Given the description of an element on the screen output the (x, y) to click on. 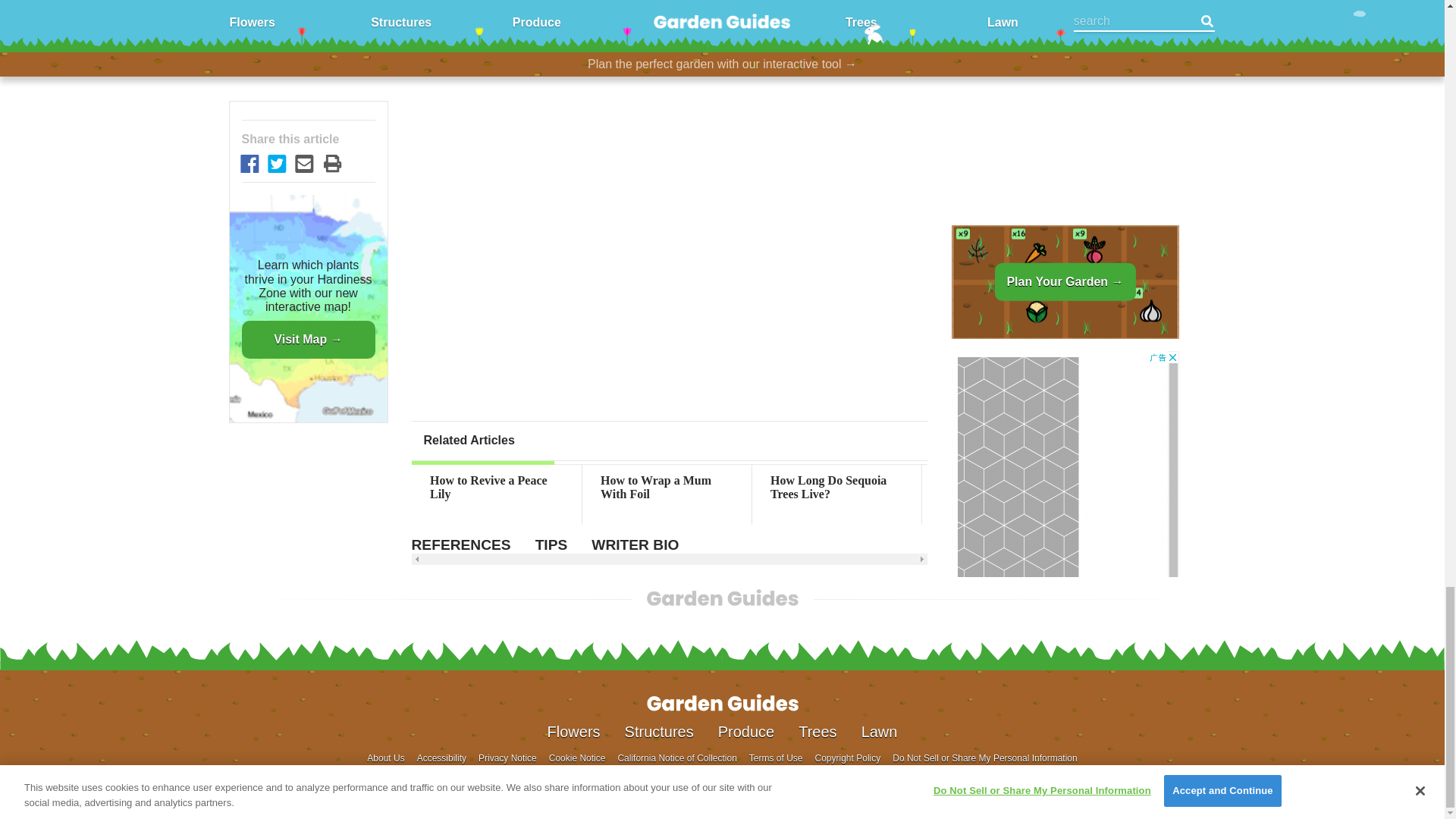
Structures (659, 731)
How to Repot a Shamrock Plant (1346, 488)
How to Re-Pot an Anthurium (1005, 488)
Are Chinese Palm Plants Poisonous to Cats? (1176, 488)
How Long Do Sequoia Trees Live? (836, 488)
How to Revive a Peace Lily (495, 488)
How to Wrap a Mum With Foil (666, 488)
Produce (745, 731)
Flowers (573, 731)
